Given the description of an element on the screen output the (x, y) to click on. 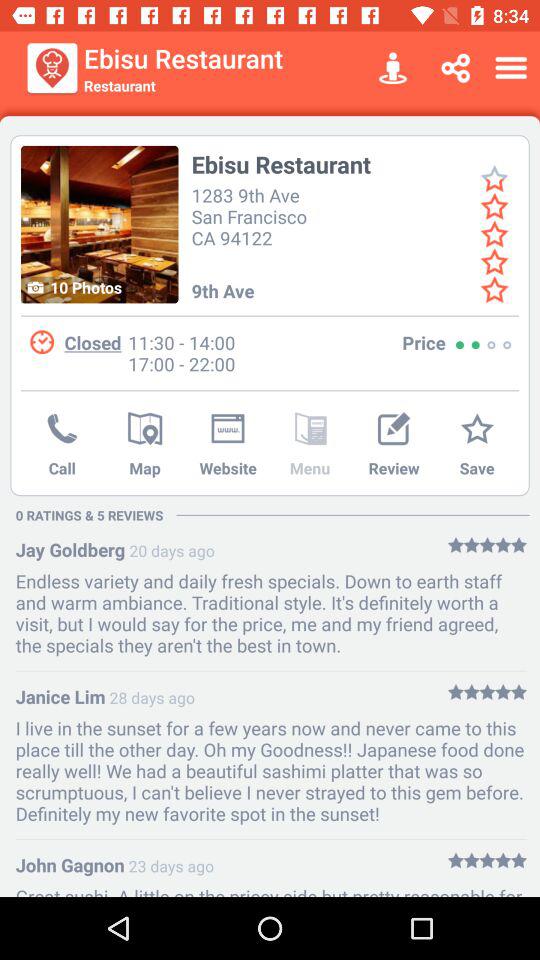
click the icon next to the ebisu restaurant (392, 67)
